Given the description of an element on the screen output the (x, y) to click on. 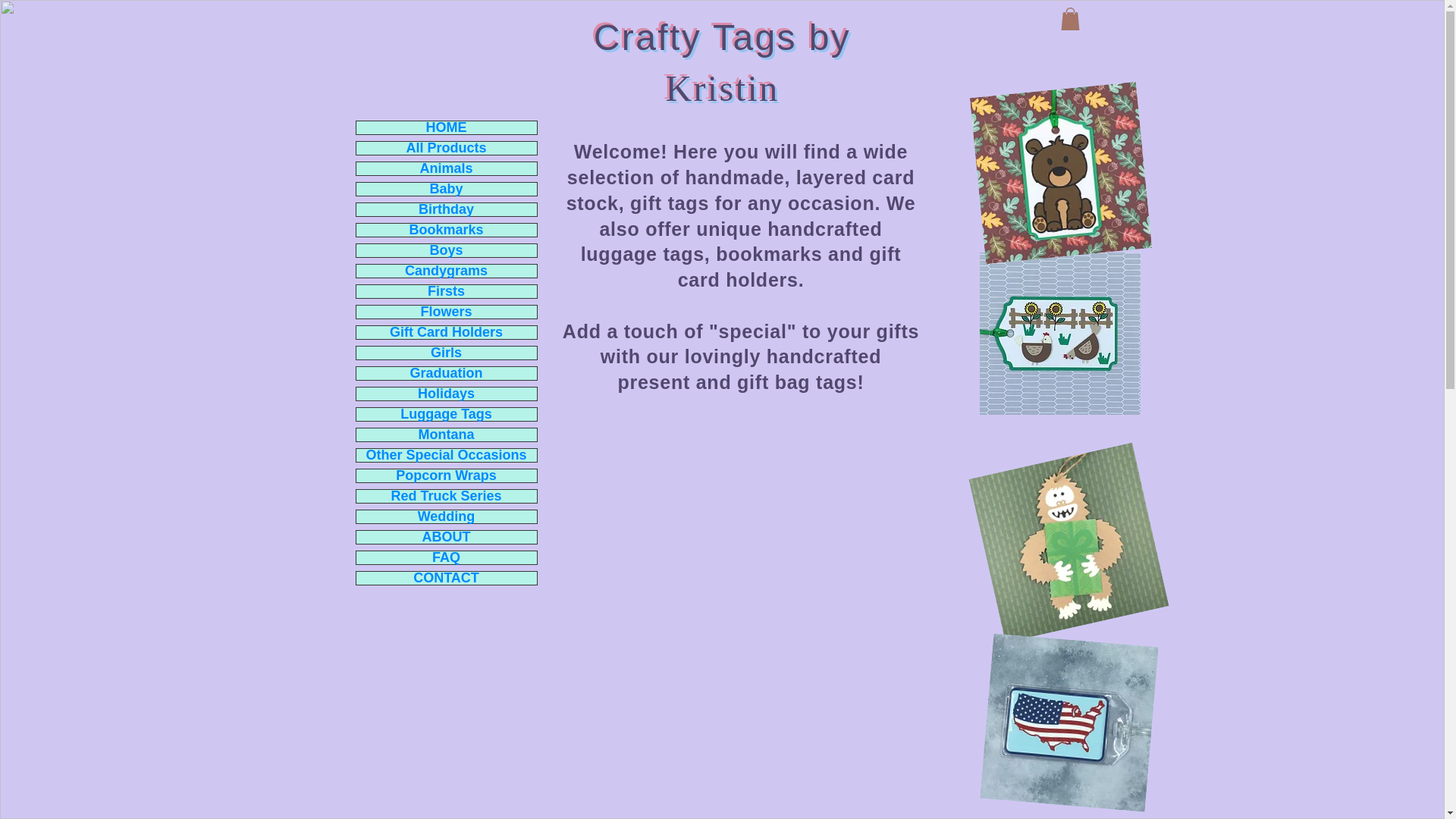
Red Truck Series (446, 495)
Firsts (446, 291)
Crafty (647, 37)
Popcorn Wraps (446, 475)
Candygrams (446, 270)
Montana (446, 434)
Boys (446, 250)
Girls (446, 352)
Luggage Tags (446, 413)
Other Special Occasions (446, 454)
